Given the description of an element on the screen output the (x, y) to click on. 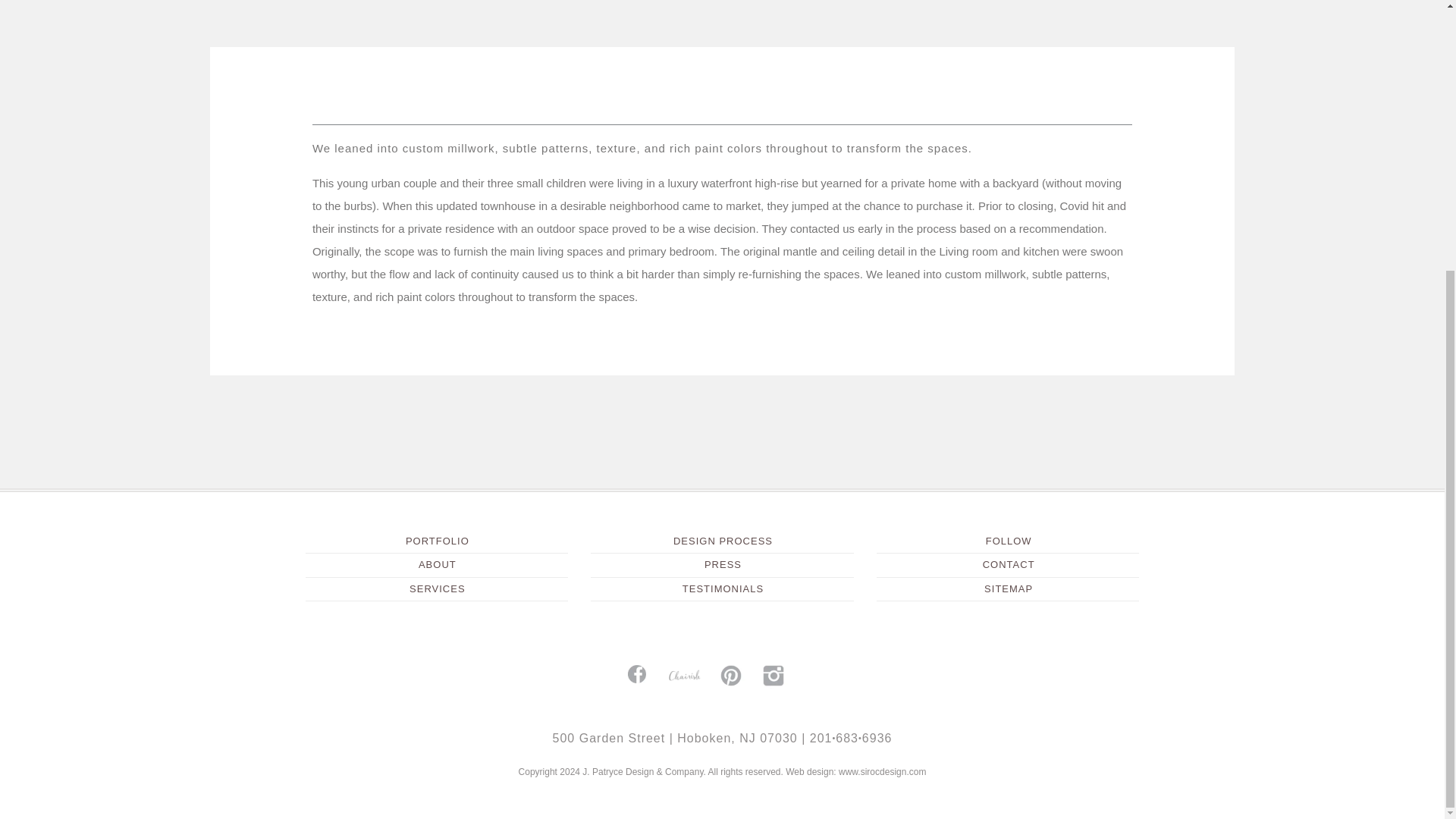
SITEMAP (1008, 588)
FOLLOW (1008, 541)
PRESS (722, 564)
DESIGN PROCESS (722, 541)
www.sirocdesign.com (882, 771)
ABOUT (437, 564)
CONTACT (1008, 564)
SERVICES (437, 588)
TESTIMONIALS (722, 588)
PORTFOLIO (437, 541)
